Given the description of an element on the screen output the (x, y) to click on. 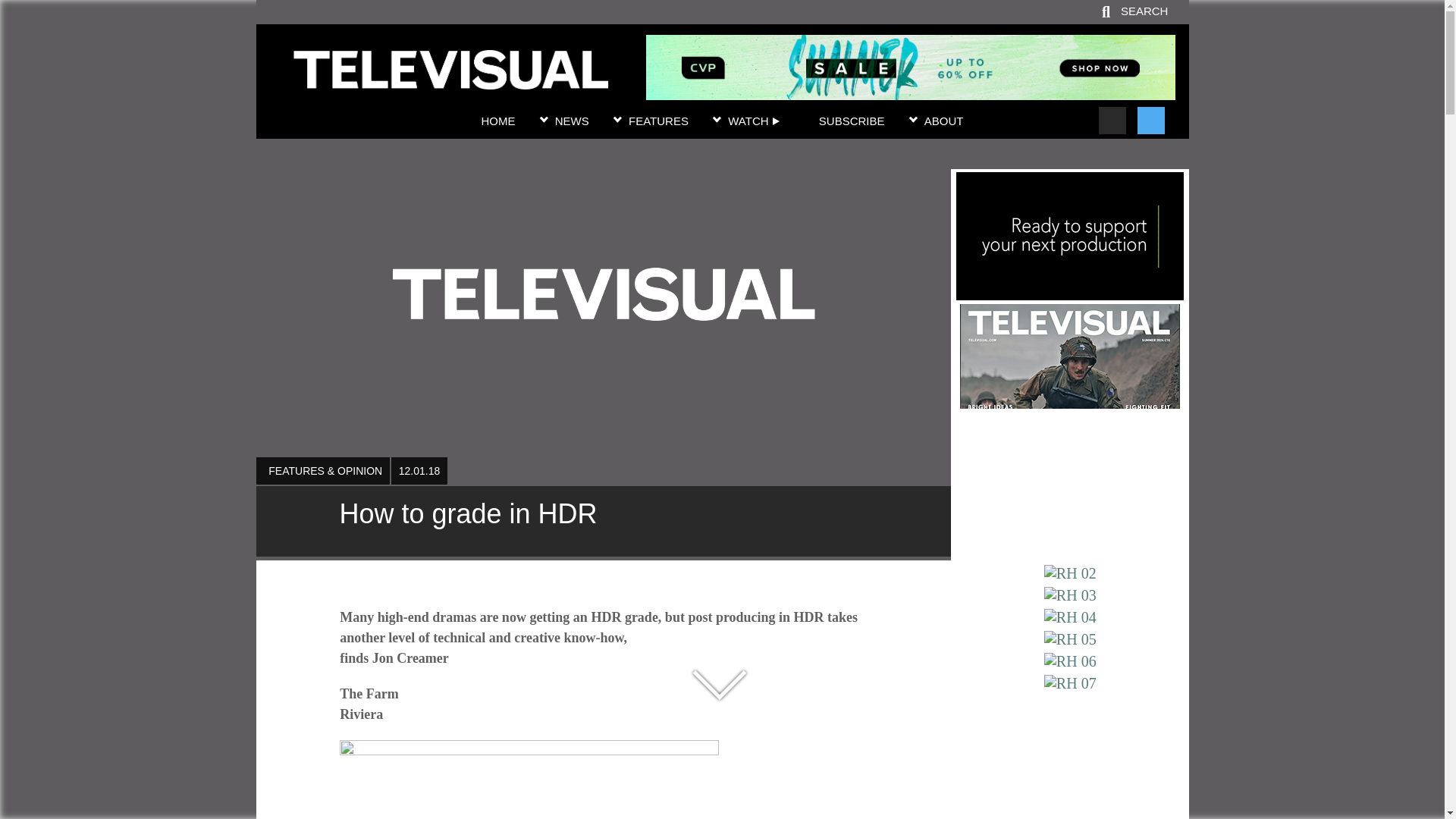
How to grade in HDR (451, 80)
12.01.18 (418, 470)
ABOUT (943, 121)
HOME (497, 121)
WATCH (753, 121)
NEWS (571, 121)
FEATURES (658, 121)
SUBSCRIBE (851, 121)
How to grade in HDR (603, 521)
